Given the description of an element on the screen output the (x, y) to click on. 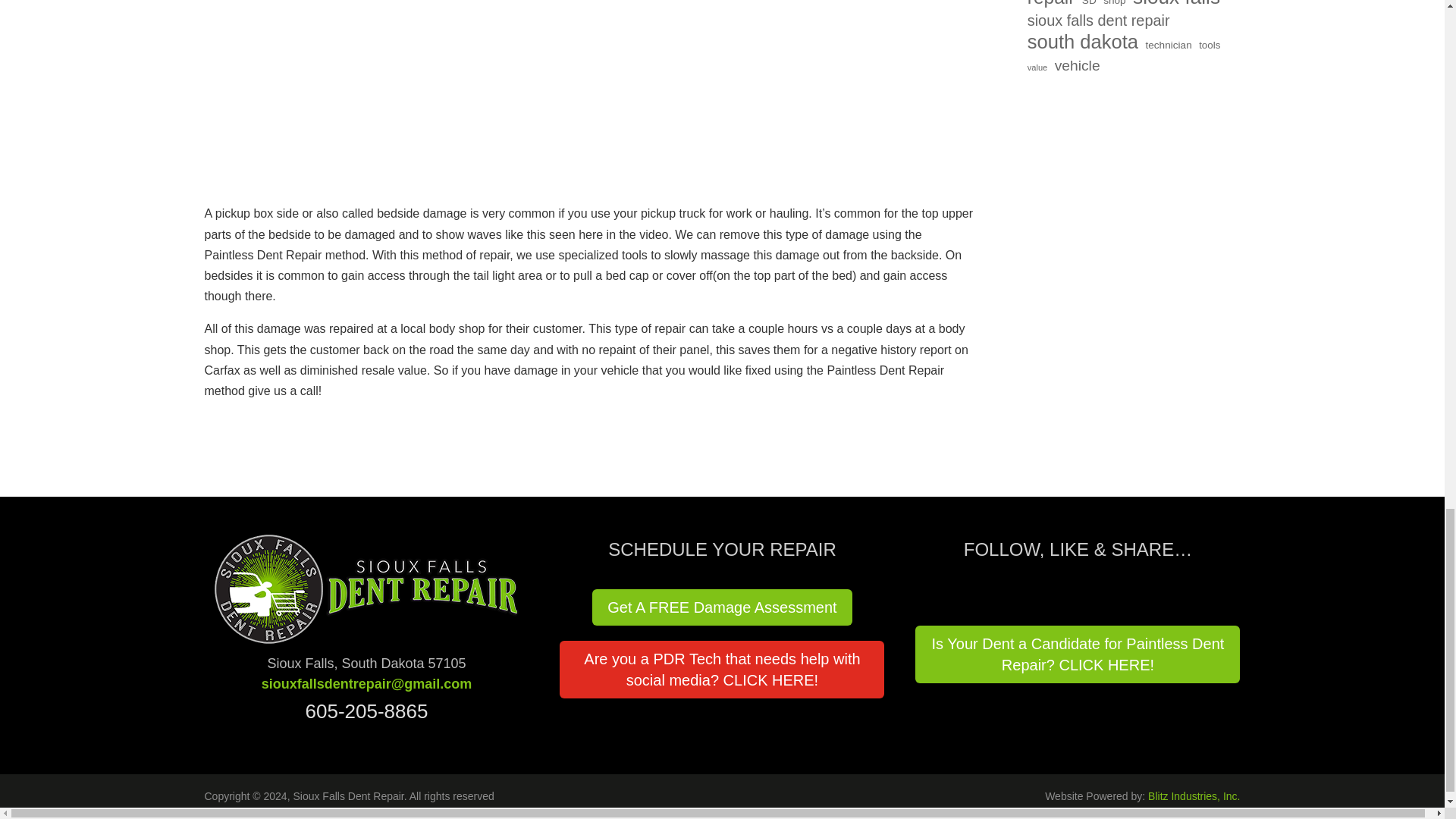
sioux-falls-logo-new (366, 588)
YouTube player (589, 82)
